Given the description of an element on the screen output the (x, y) to click on. 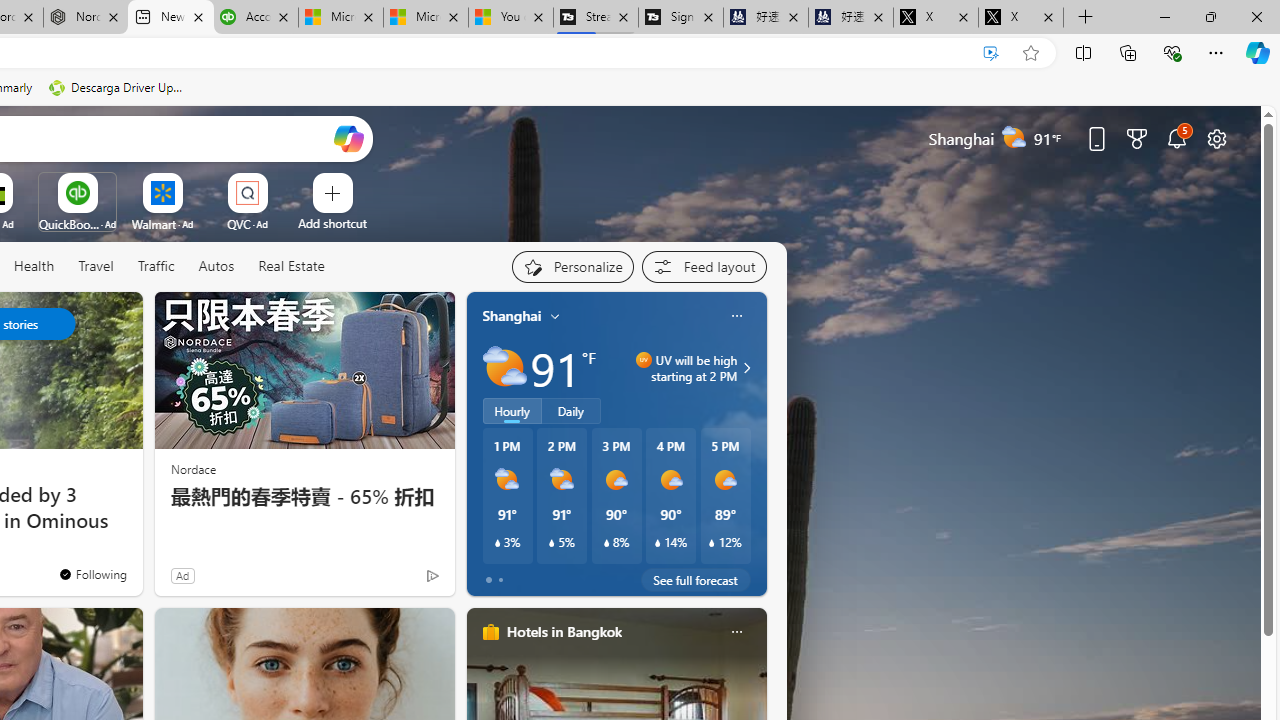
Partly sunny (504, 368)
Descarga Driver Updater (118, 88)
UV will be high starting at 2 PM (744, 367)
Page settings (1216, 138)
Add a site (332, 223)
See full forecast (695, 579)
